Given the description of an element on the screen output the (x, y) to click on. 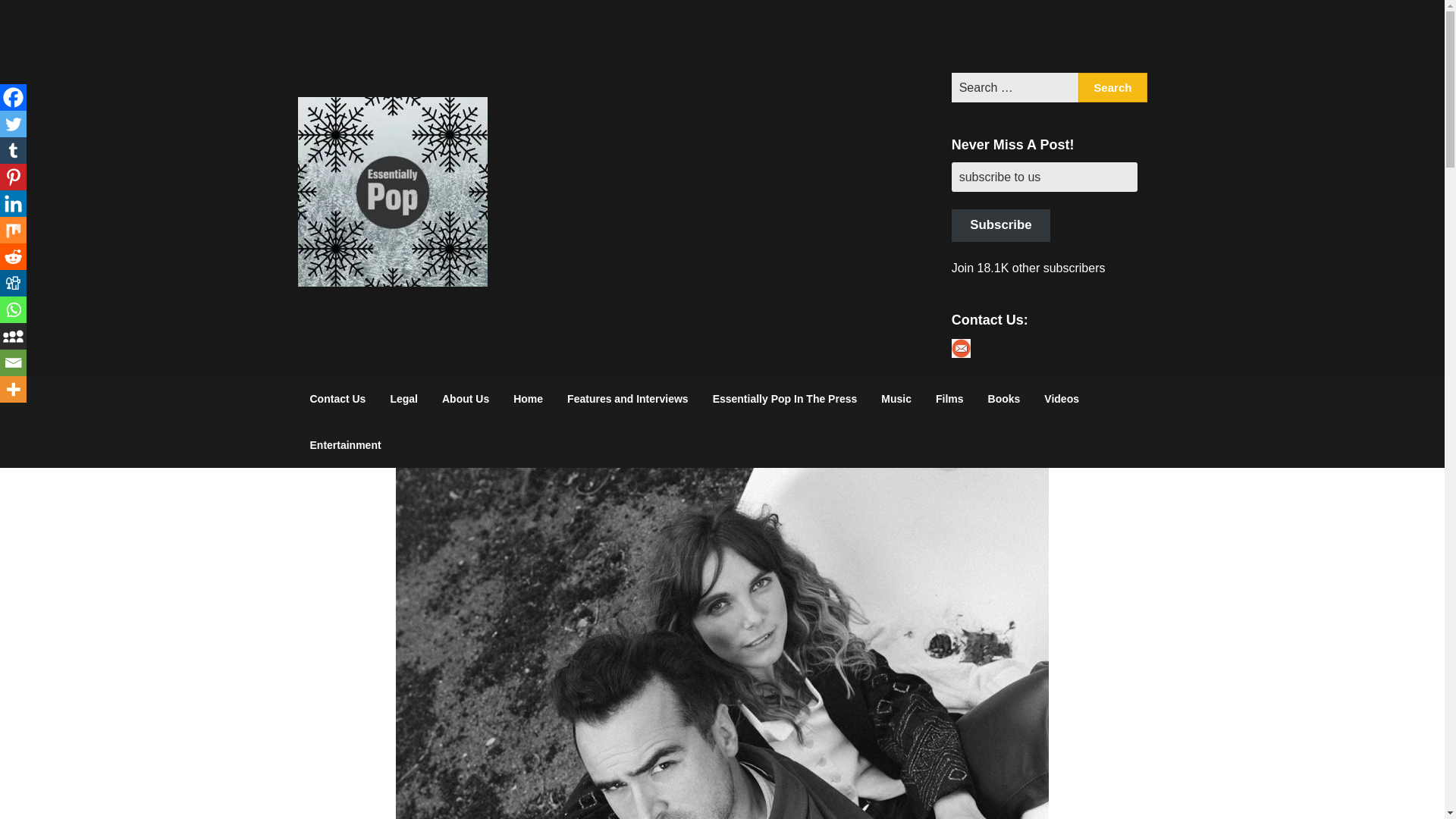
Reddit (13, 256)
Digg (13, 283)
Legal (403, 398)
Films (949, 398)
Home (527, 398)
Books (1003, 398)
About Us (464, 398)
YouTube (1088, 36)
Videos (1061, 398)
Instagram (1048, 36)
